Given the description of an element on the screen output the (x, y) to click on. 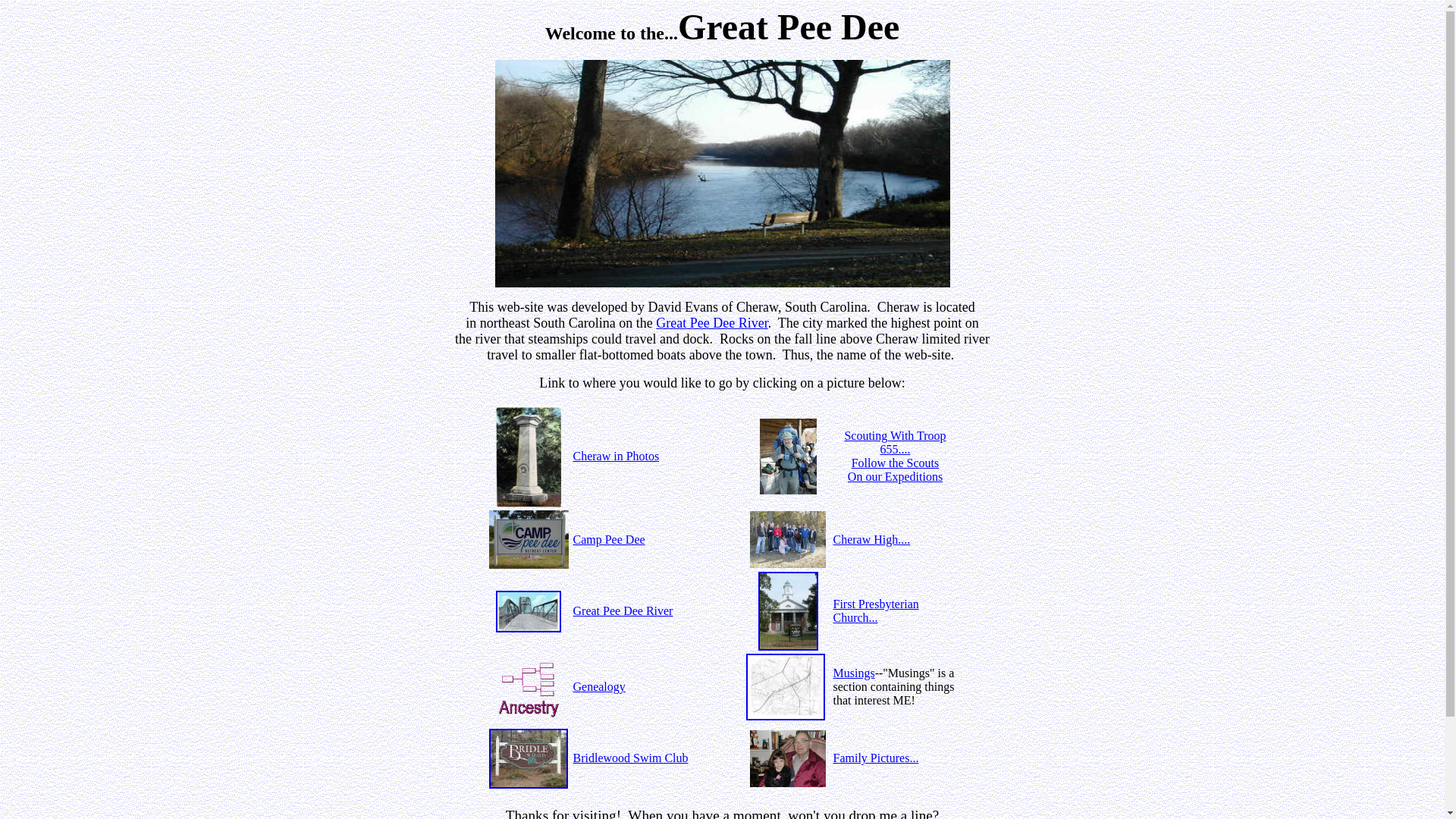
Family Pictures... (875, 757)
Cheraw High.... (871, 538)
Musings (853, 672)
Cheraw in Photos (616, 455)
Genealogy (599, 686)
First Presbyterian Church... (875, 610)
Camp Pee Dee (609, 538)
Great Pee Dee River (622, 610)
Great Pee Dee River (711, 322)
Bridlewood Swim Club (630, 757)
